Given the description of an element on the screen output the (x, y) to click on. 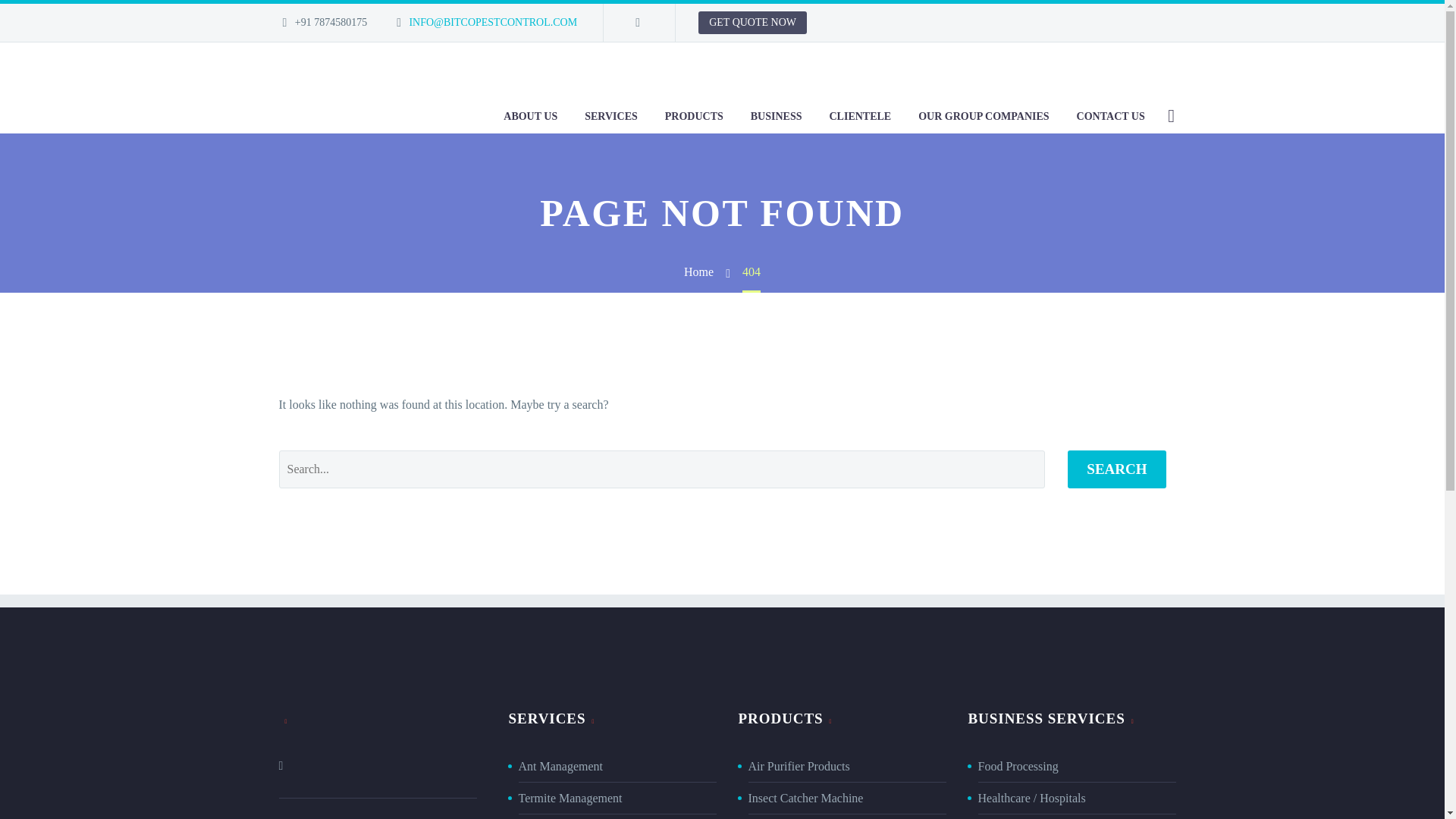
PRODUCTS (694, 115)
ABOUT US (530, 115)
Facebook (637, 22)
GET QUOTE NOW (752, 22)
SERVICES (611, 115)
